Given the description of an element on the screen output the (x, y) to click on. 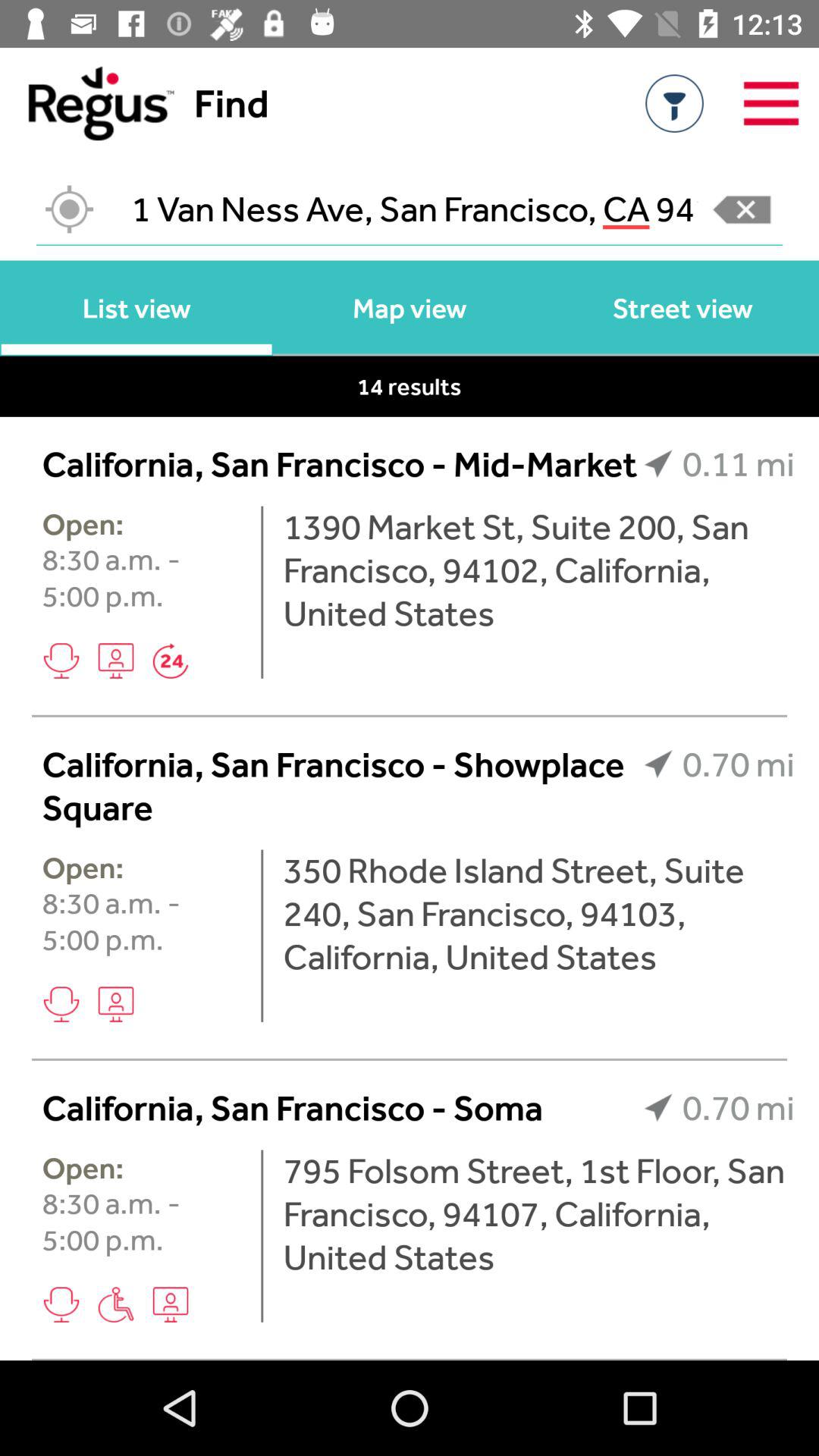
turn off the icon to the left of the 795 folsom street (262, 1236)
